Given the description of an element on the screen output the (x, y) to click on. 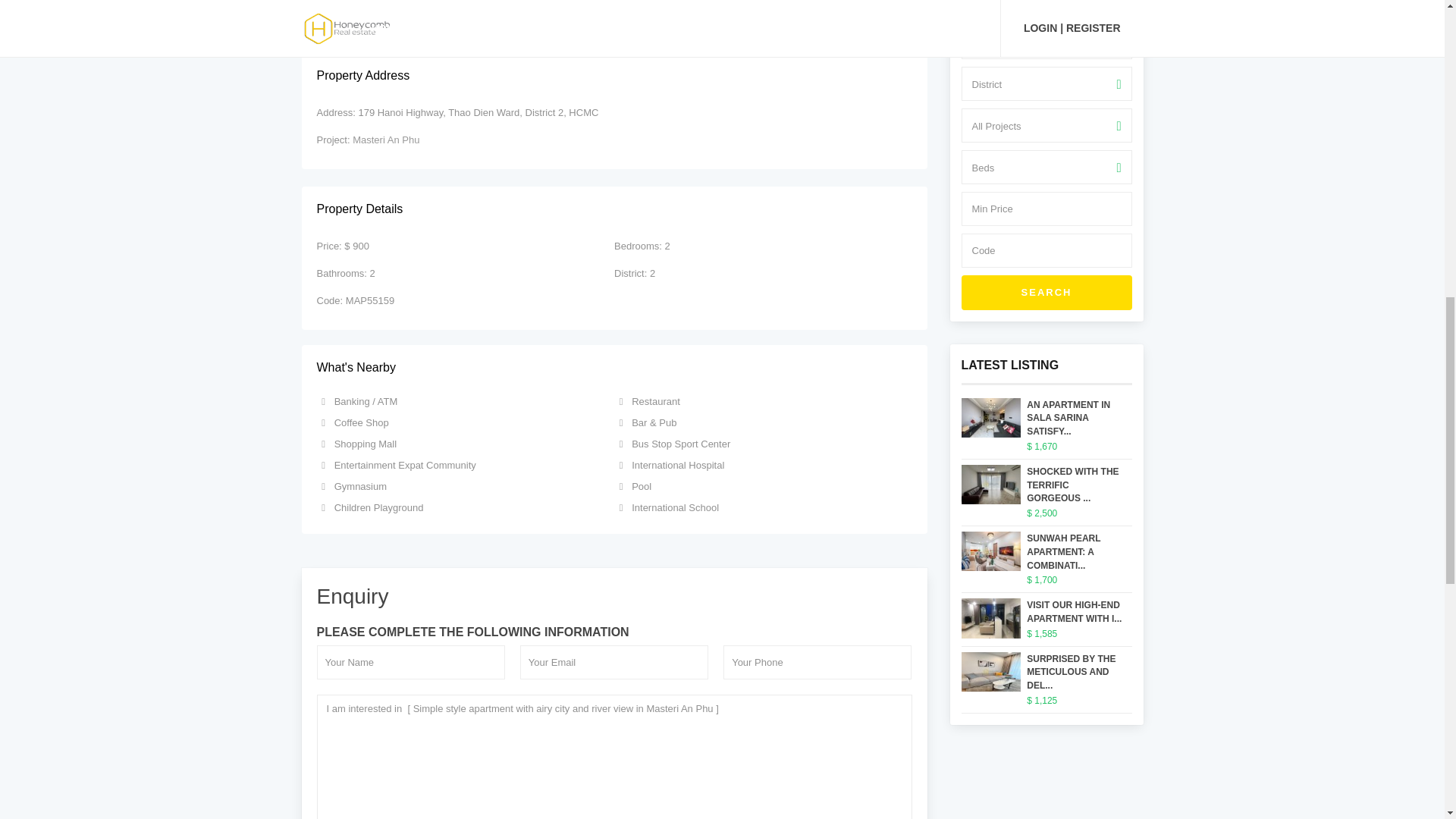
What'S Nearby (614, 367)
Property Address (614, 75)
Masteri An Phu (385, 139)
Property Details (614, 209)
SEARCH (1046, 292)
